Given the description of an element on the screen output the (x, y) to click on. 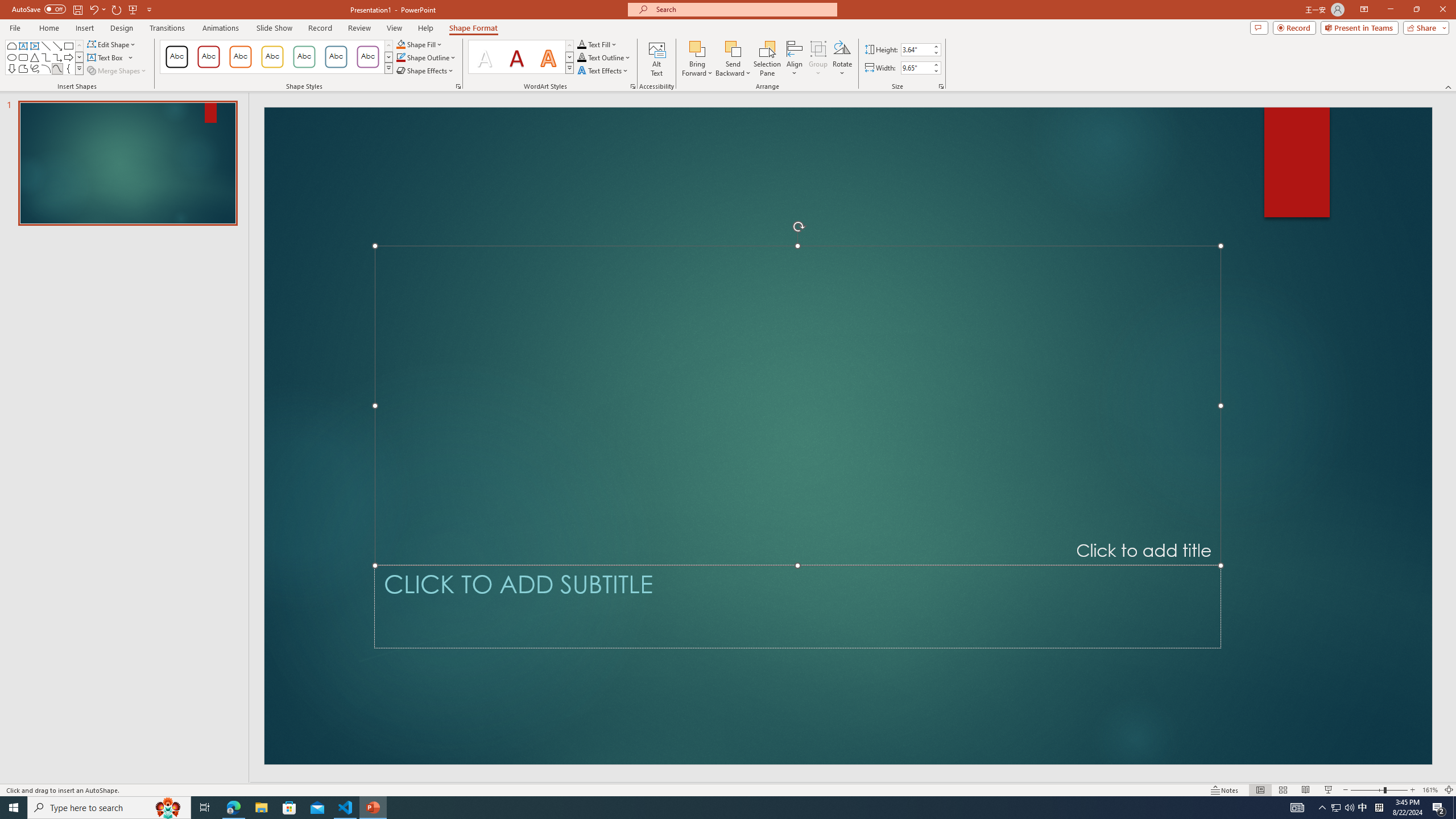
Home (48, 28)
Normal (1260, 790)
Reading View (1305, 790)
Group (817, 58)
Undo (92, 9)
Class: NetUIImage (569, 68)
Less (935, 70)
Text Box (23, 45)
Format Object... (458, 85)
Redo (117, 9)
Text Fill (596, 44)
Undo (96, 9)
Bring Forward (697, 48)
Send Backward (733, 48)
Size and Position... (941, 85)
